Given the description of an element on the screen output the (x, y) to click on. 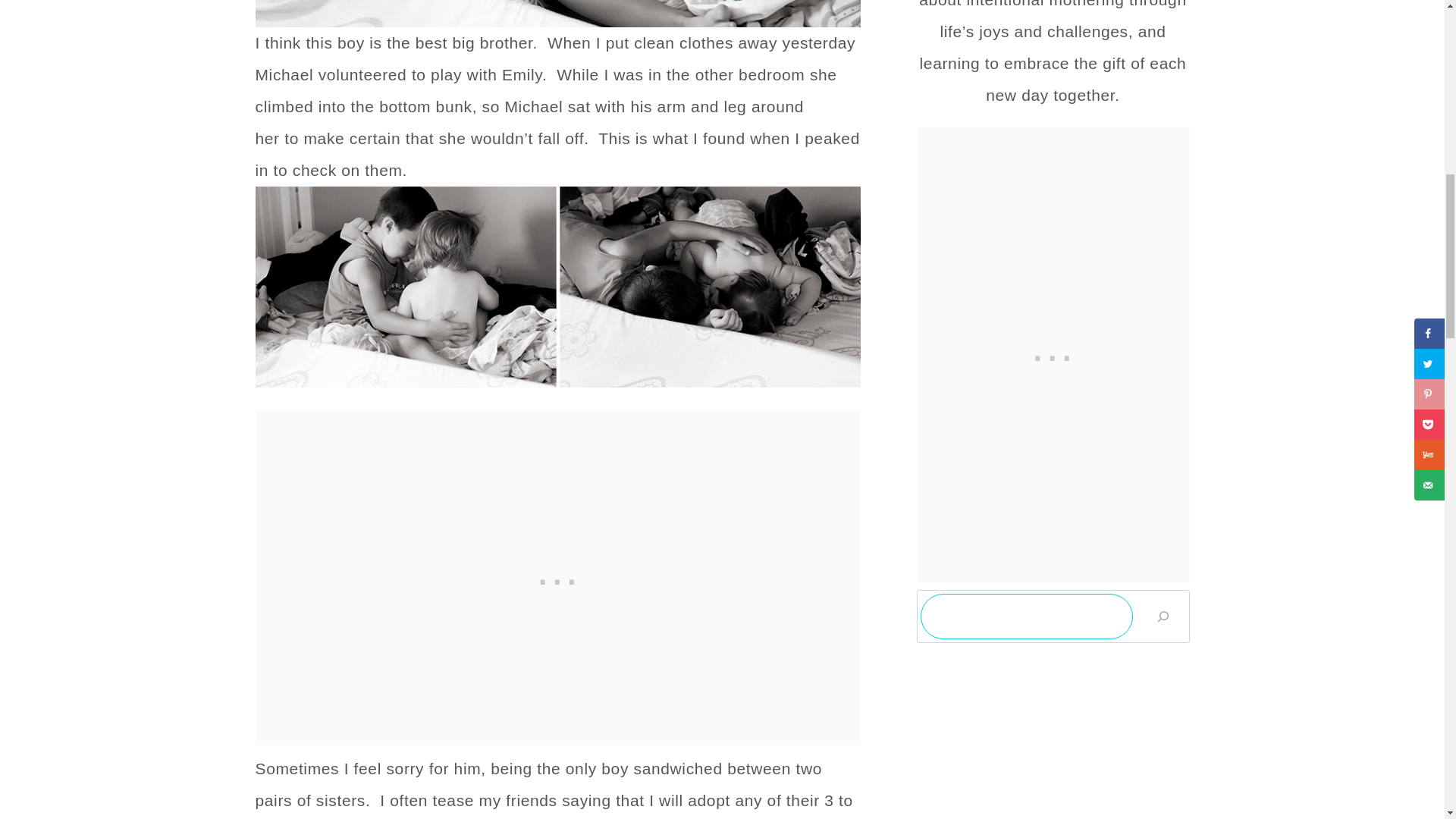
Bunk Bed (557, 286)
Best Big Brother (557, 13)
